Given the description of an element on the screen output the (x, y) to click on. 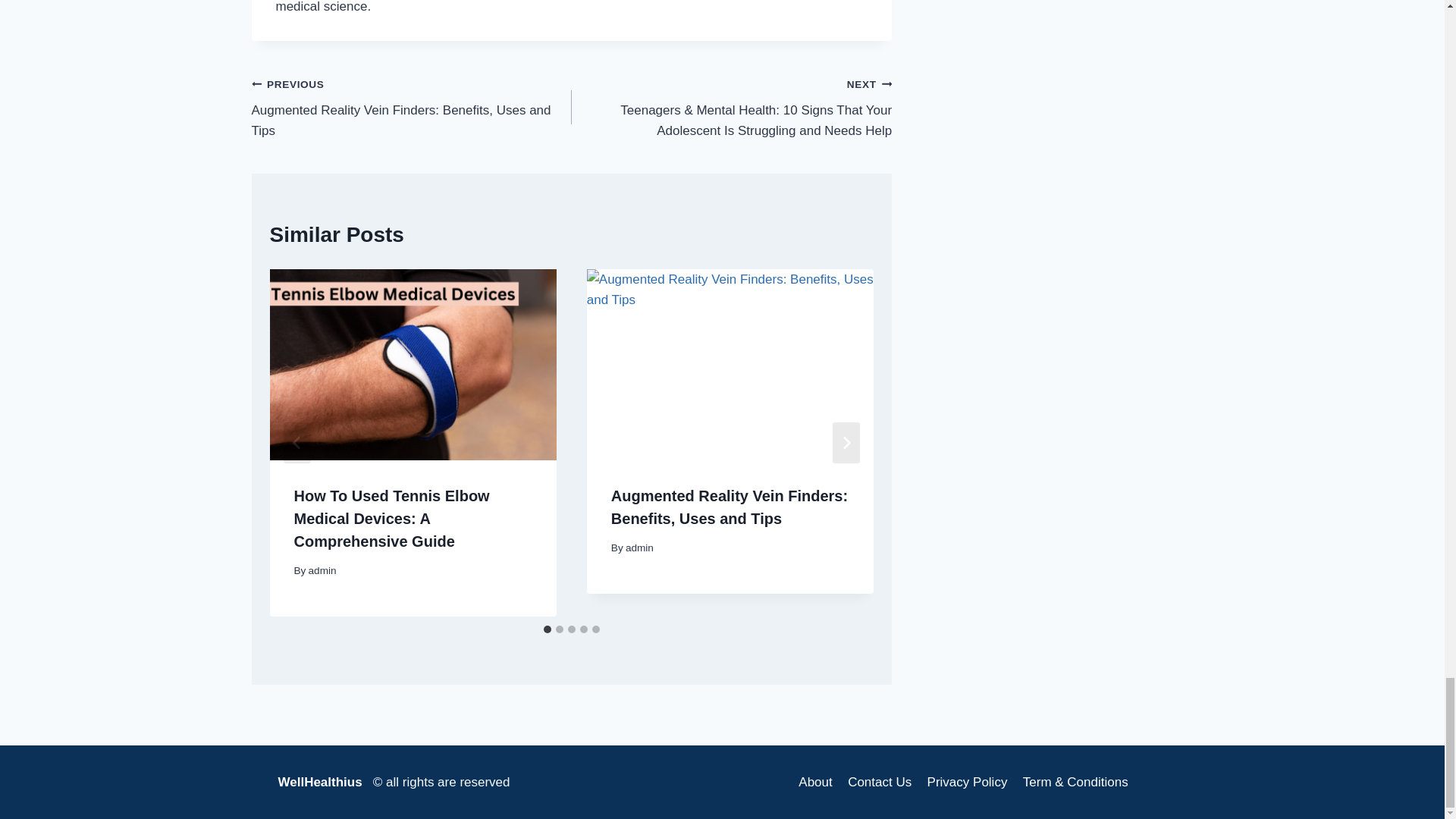
admin (639, 547)
Augmented Reality Vein Finders: Benefits, Uses and Tips (729, 507)
admin (322, 570)
